Given the description of an element on the screen output the (x, y) to click on. 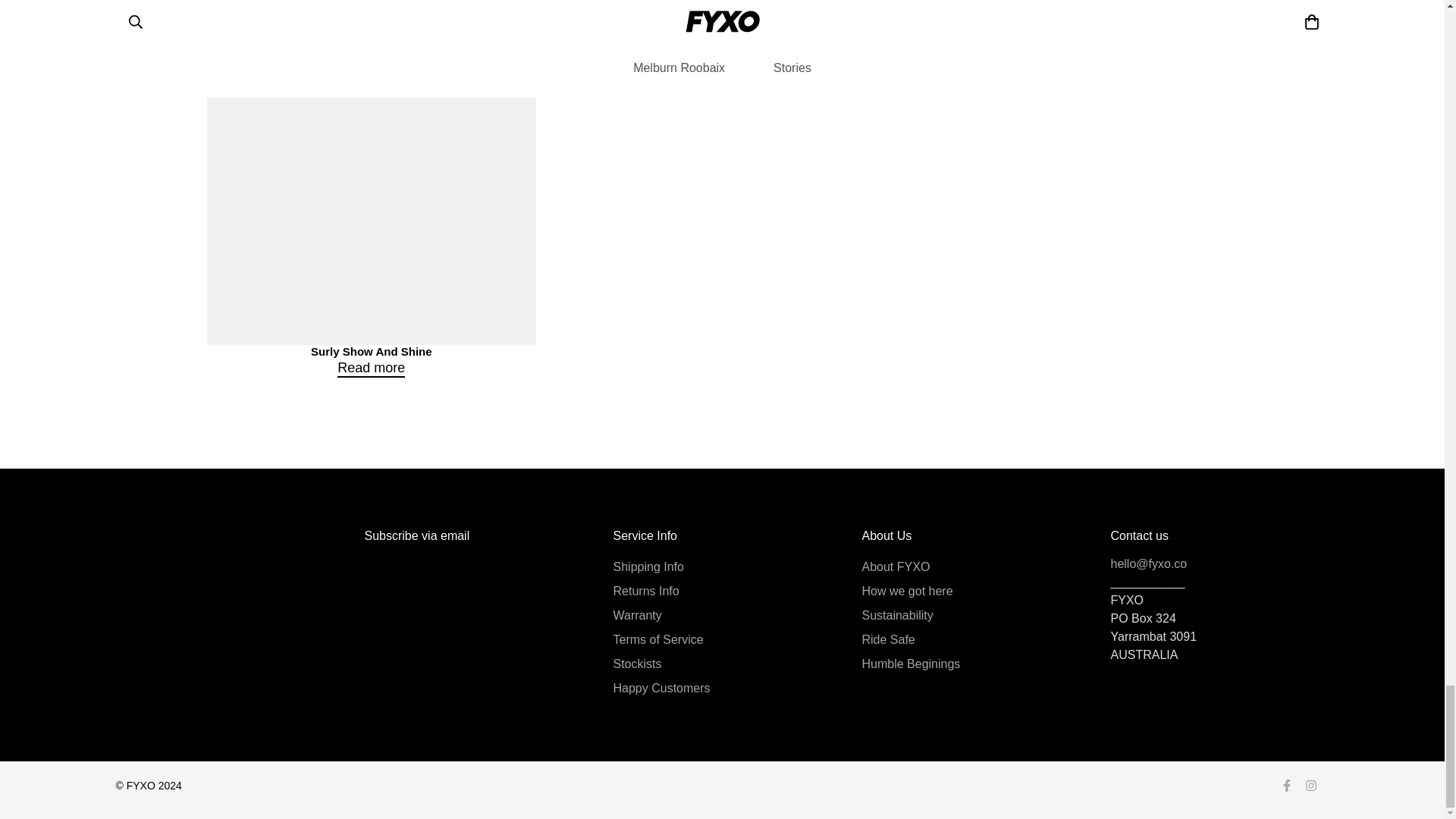
Read more (721, 53)
Read more (1072, 66)
2024 Melburn Roobaix - Event Report (370, 37)
Surly Show And Shine (370, 350)
Make it Rust - Surly Krampus 29er MTB (721, 37)
Read more (370, 367)
Read more (370, 53)
